Given the description of an element on the screen output the (x, y) to click on. 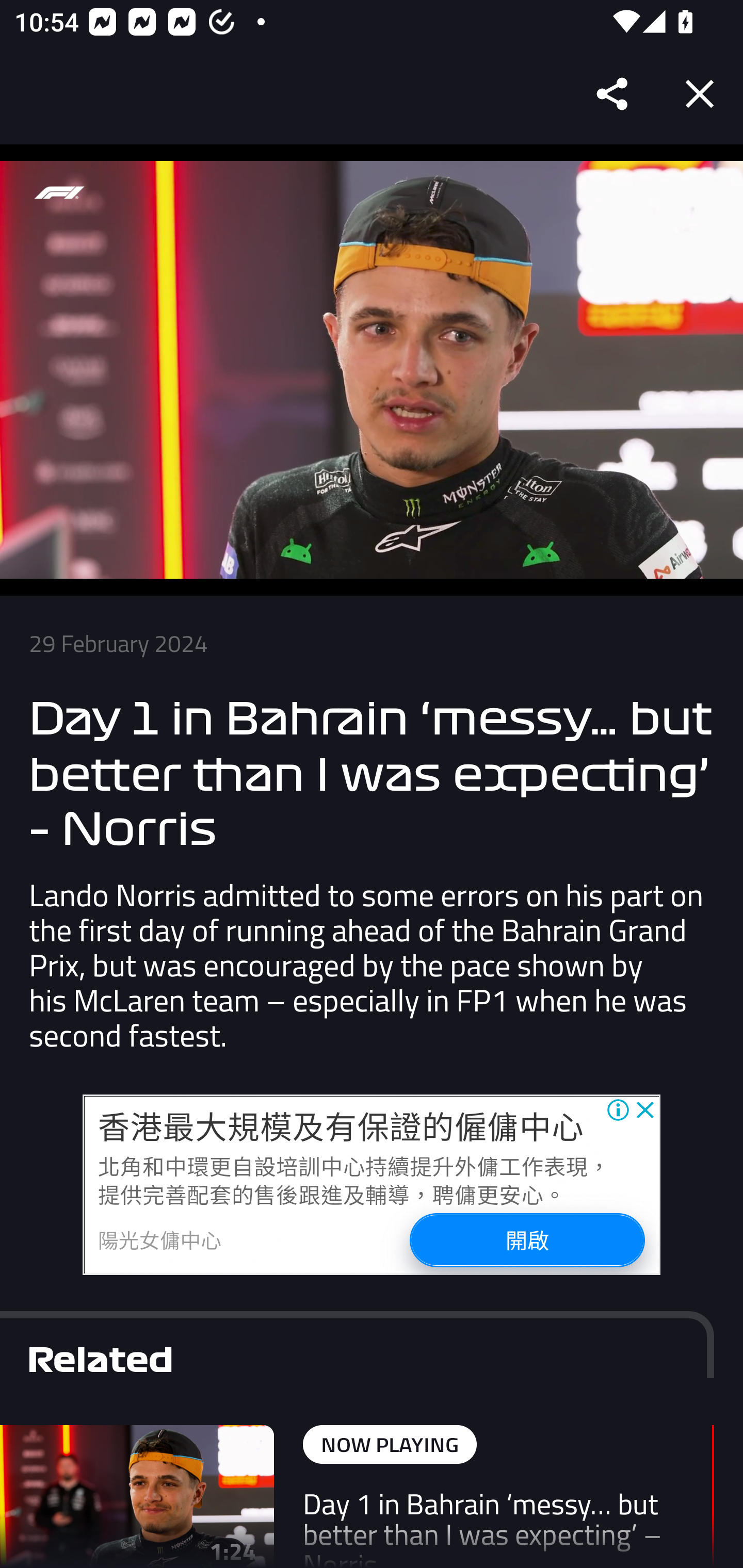
Share (612, 93)
Close (699, 93)
Video Player (371, 369)
香港最大規模及有保證的僱傭中心 (340, 1126)
開啟 (526, 1240)
陽光女傭中心 (160, 1239)
